Given the description of an element on the screen output the (x, y) to click on. 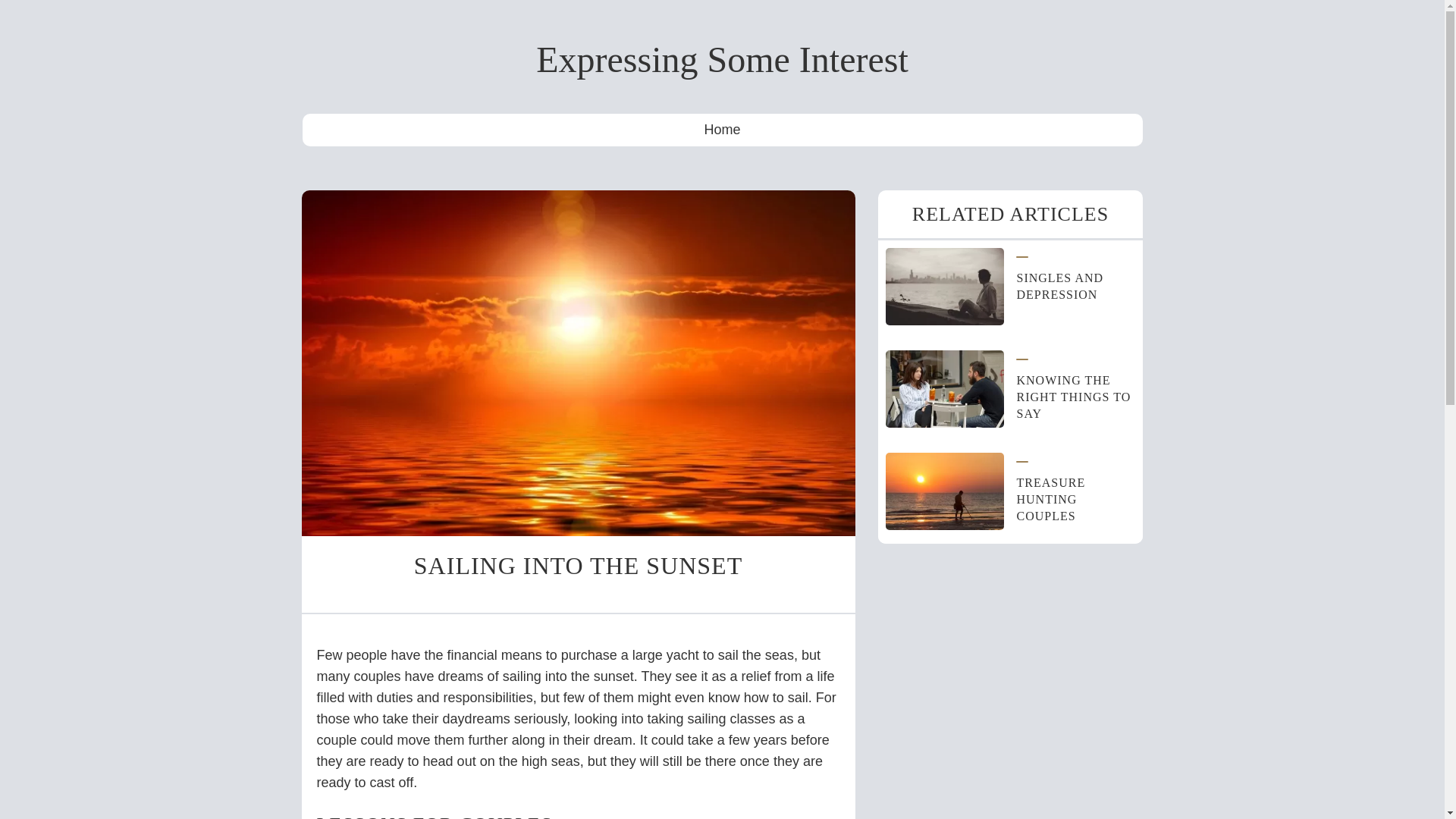
TREASURE HUNTING COUPLES (1050, 498)
SINGLES AND DEPRESSION (1059, 286)
Expressing Some Interest (721, 59)
Home (721, 129)
KNOWING THE RIGHT THINGS TO SAY (1073, 396)
